Given the description of an element on the screen output the (x, y) to click on. 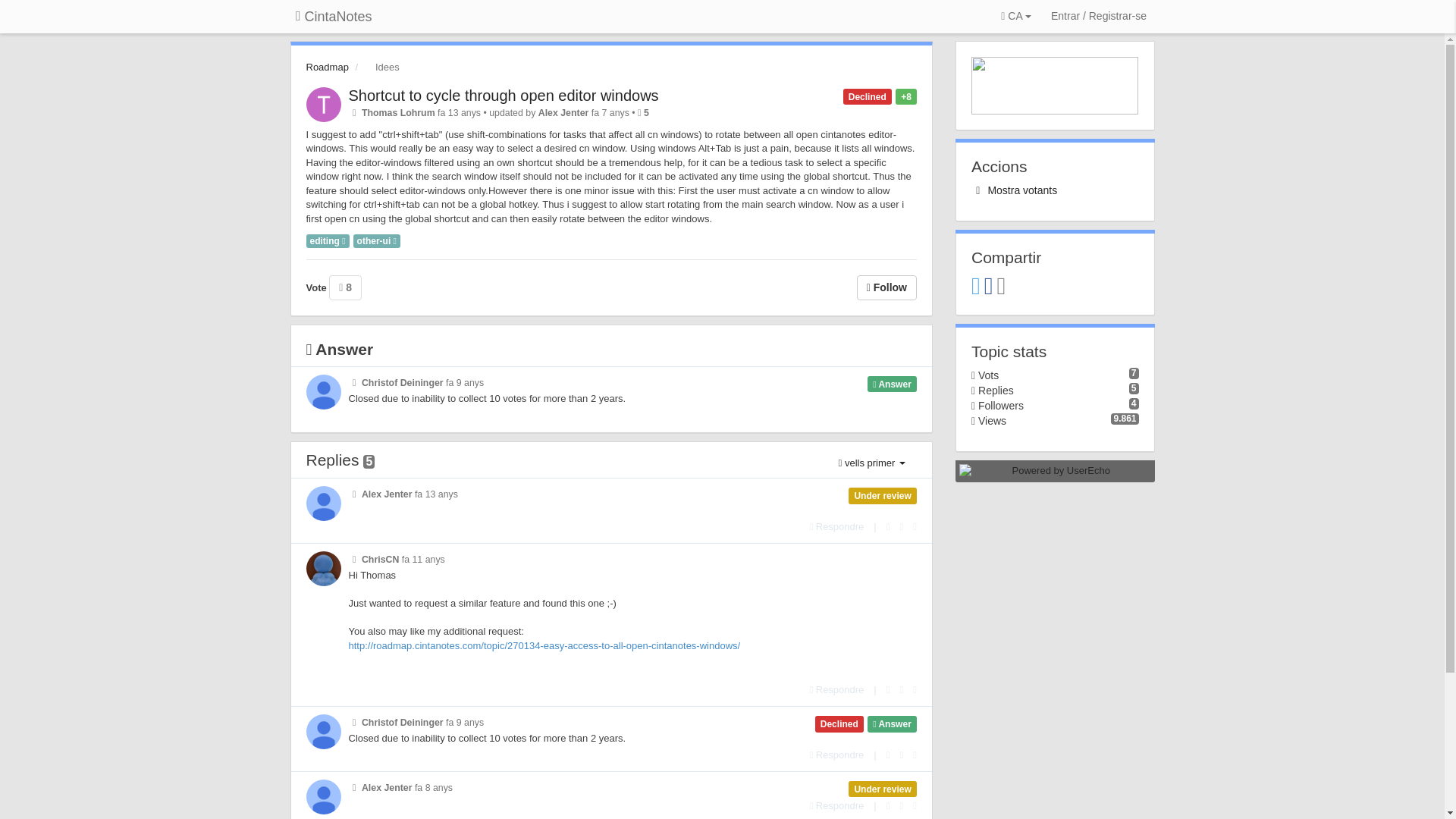
CA (1015, 16)
Idees (378, 66)
Shortcut to cycle through open editor windows (504, 95)
Thomas Lohrum (398, 112)
Alex Jenter (563, 112)
CintaNotes (333, 16)
Roadmap (327, 66)
8 (345, 287)
